Given the description of an element on the screen output the (x, y) to click on. 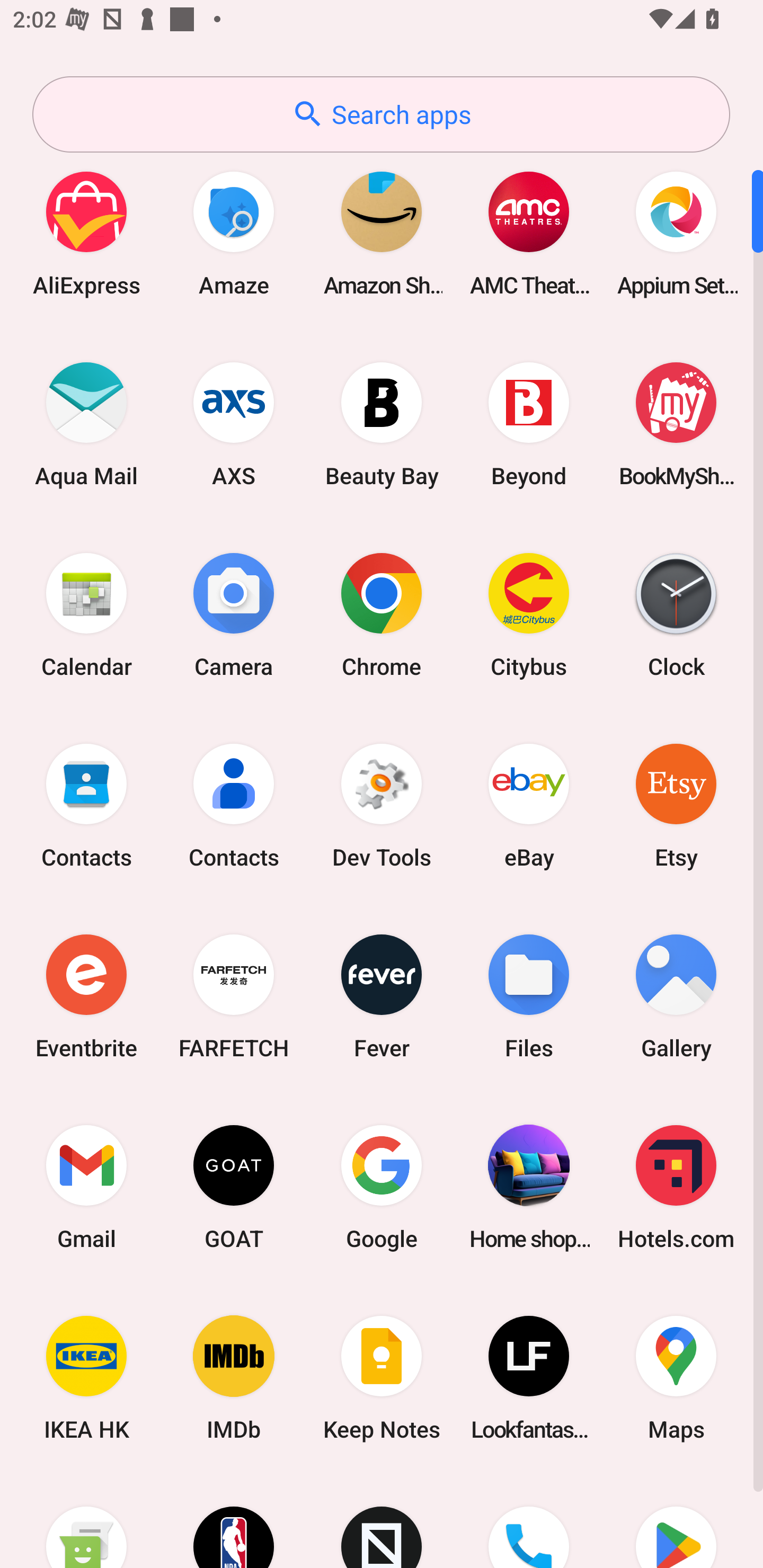
  Search apps (381, 114)
AliExpress (86, 233)
Amaze (233, 233)
Amazon Shopping (381, 233)
AMC Theatres (528, 233)
Appium Settings (676, 233)
Aqua Mail (86, 424)
AXS (233, 424)
Beauty Bay (381, 424)
Beyond (528, 424)
BookMyShow (676, 424)
Calendar (86, 614)
Camera (233, 614)
Chrome (381, 614)
Citybus (528, 614)
Clock (676, 614)
Contacts (86, 805)
Contacts (233, 805)
Dev Tools (381, 805)
eBay (528, 805)
Etsy (676, 805)
Eventbrite (86, 996)
FARFETCH (233, 996)
Fever (381, 996)
Files (528, 996)
Gallery (676, 996)
Gmail (86, 1186)
GOAT (233, 1186)
Google (381, 1186)
Home shopping (528, 1186)
Hotels.com (676, 1186)
IKEA HK (86, 1377)
IMDb (233, 1377)
Keep Notes (381, 1377)
Lookfantastic (528, 1377)
Maps (676, 1377)
Messaging (86, 1520)
NBA (233, 1520)
Novelship (381, 1520)
Phone (528, 1520)
Play Store (676, 1520)
